Given the description of an element on the screen output the (x, y) to click on. 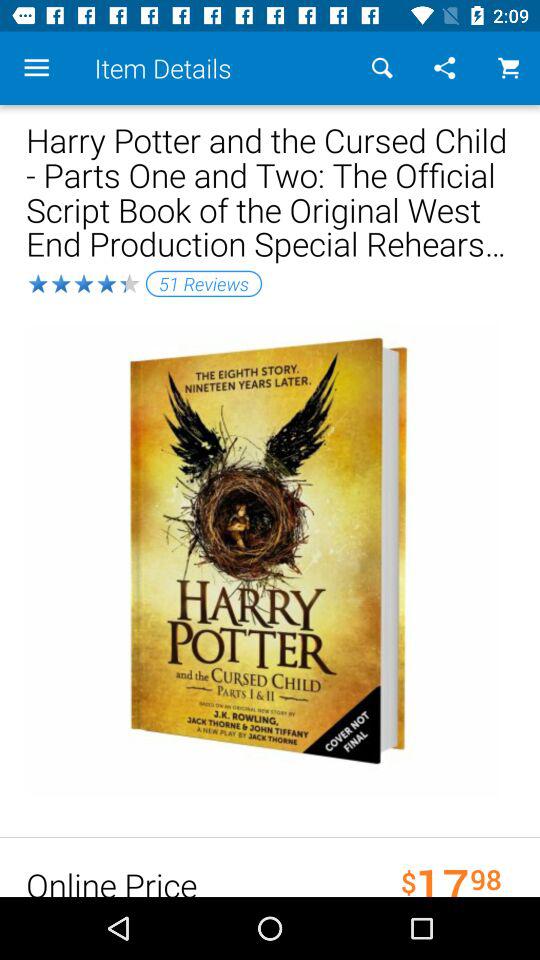
open item above the harry potter and (381, 67)
